Given the description of an element on the screen output the (x, y) to click on. 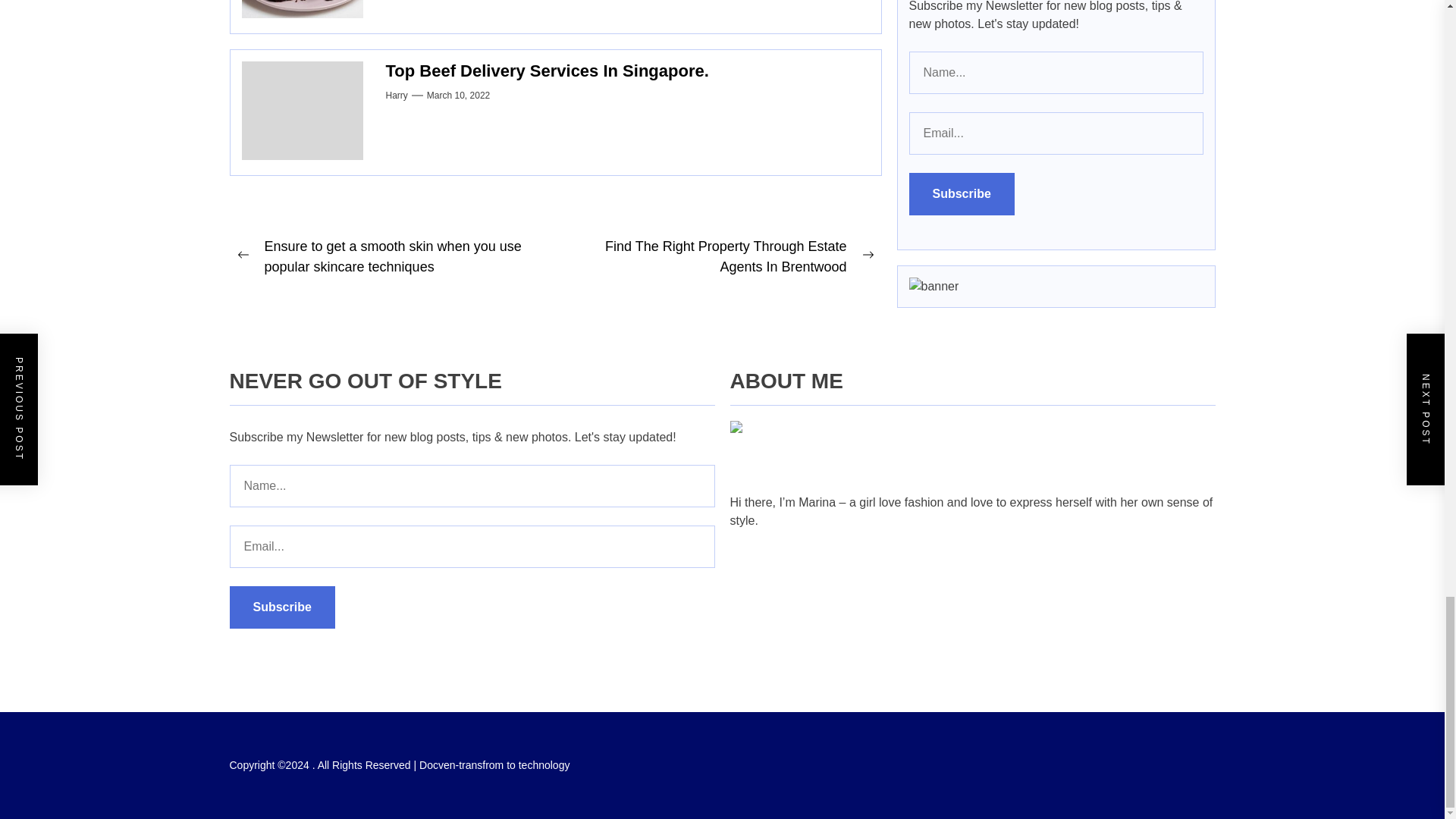
Subscribe (281, 607)
